Given the description of an element on the screen output the (x, y) to click on. 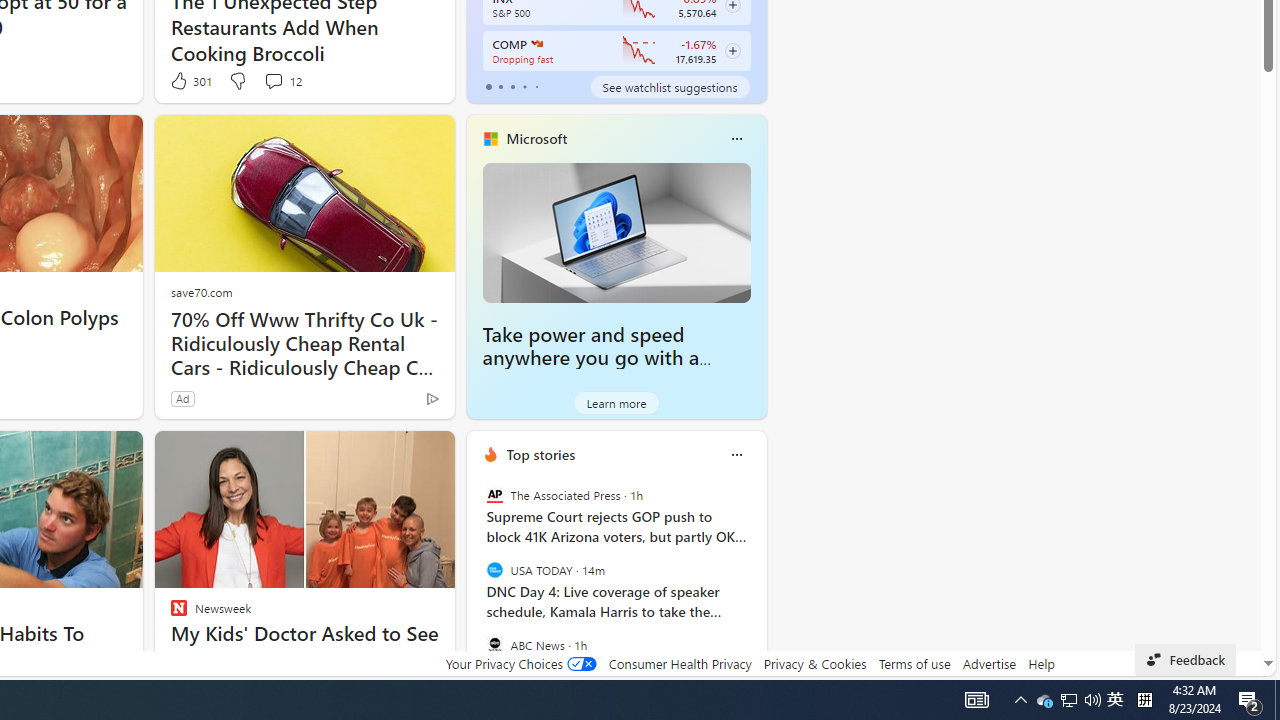
NASDAQ (535, 43)
Take power and speed anywhere you go with a Windows laptop. (616, 232)
See watchlist suggestions (669, 86)
The Associated Press (494, 494)
